Given the description of an element on the screen output the (x, y) to click on. 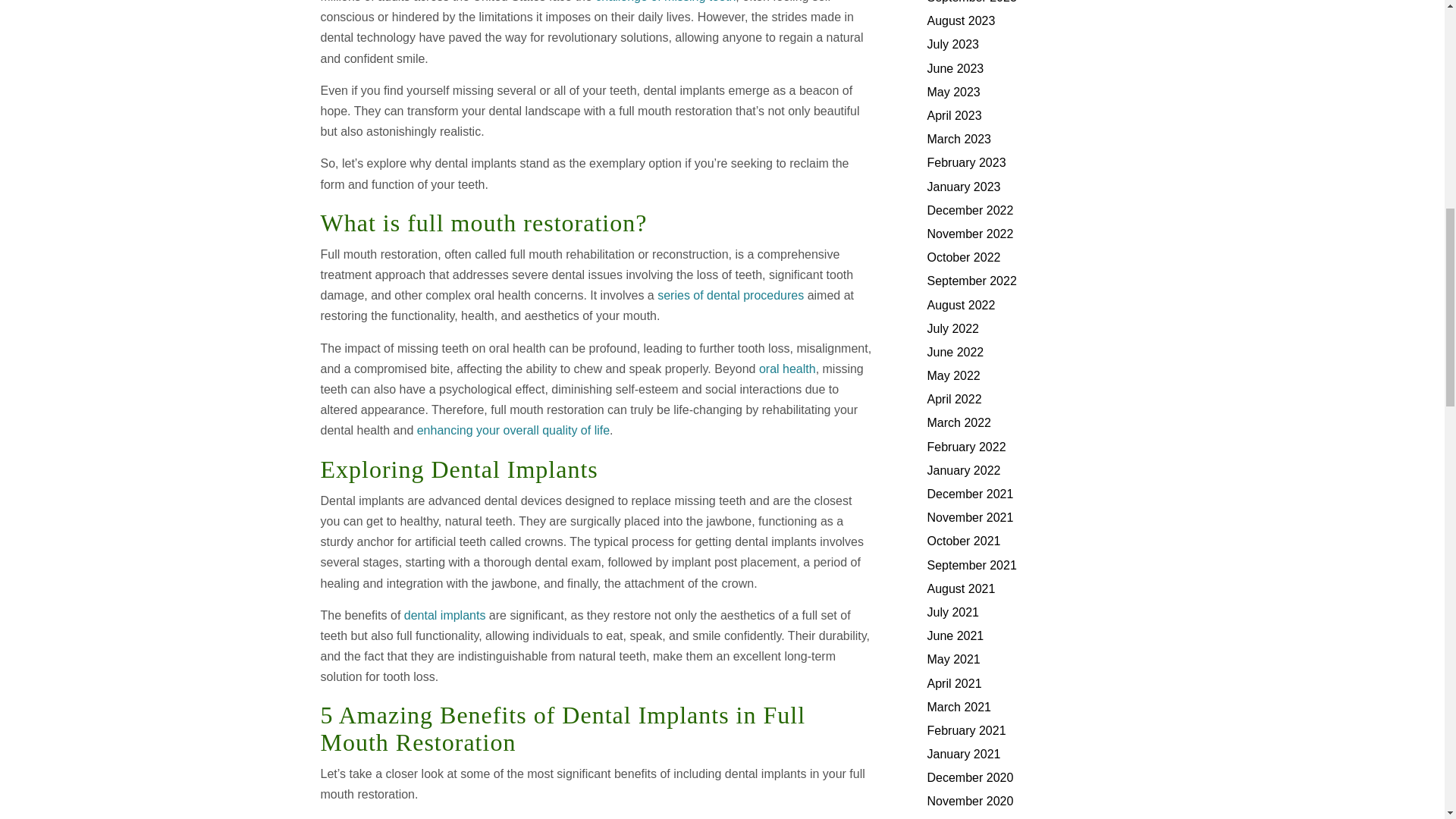
enhancing your overall quality of life (513, 430)
series of dental procedures (730, 295)
challenge of missing teeth (665, 1)
oral health (786, 368)
dental implants (445, 615)
